Given the description of an element on the screen output the (x, y) to click on. 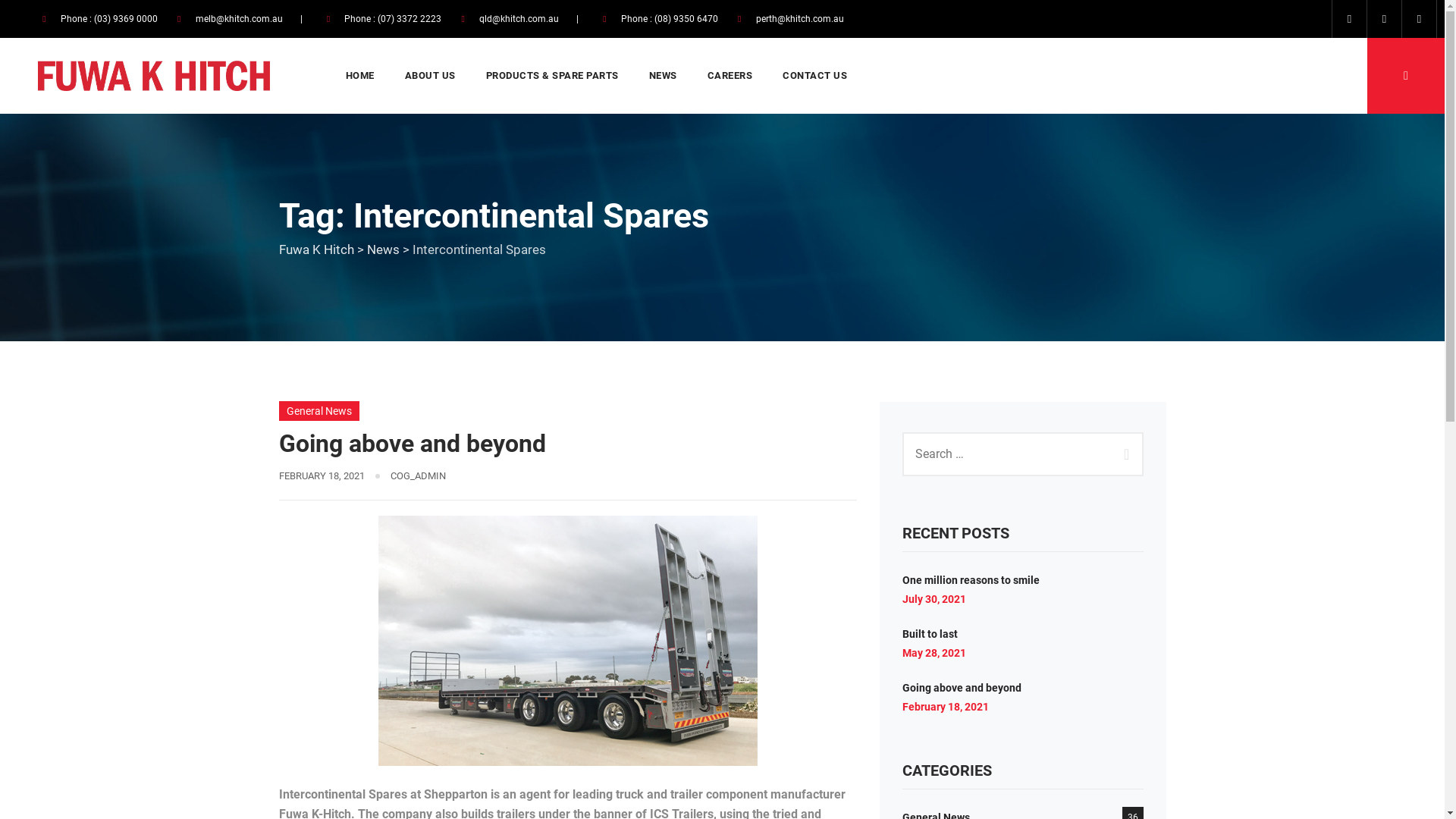
ABOUT US Element type: text (429, 75)
NEWS Element type: text (663, 75)
February 18, 2021 Element type: text (945, 706)
Fuwa K Hitch Element type: hover (153, 75)
CAREERS Element type: text (730, 75)
CONTACT US Element type: text (814, 75)
COG_ADMIN Element type: text (417, 475)
News Element type: text (383, 249)
melb@khitch.com.au Element type: text (238, 18)
qld@khitch.com.au Element type: text (518, 18)
HOME Element type: text (359, 75)
Going above and beyond Element type: text (961, 687)
General News Element type: text (319, 410)
Going above and beyond Element type: text (412, 443)
May 28, 2021 Element type: text (934, 652)
PRODUCTS & SPARE PARTS Element type: text (552, 75)
One million reasons to smile Element type: text (970, 580)
July 30, 2021 Element type: text (934, 599)
Fuwa K Hitch Element type: text (316, 249)
Built to last Element type: text (929, 633)
perth@khitch.com.au Element type: text (800, 18)
FEBRUARY 18, 2021 Element type: text (321, 475)
